Given the description of an element on the screen output the (x, y) to click on. 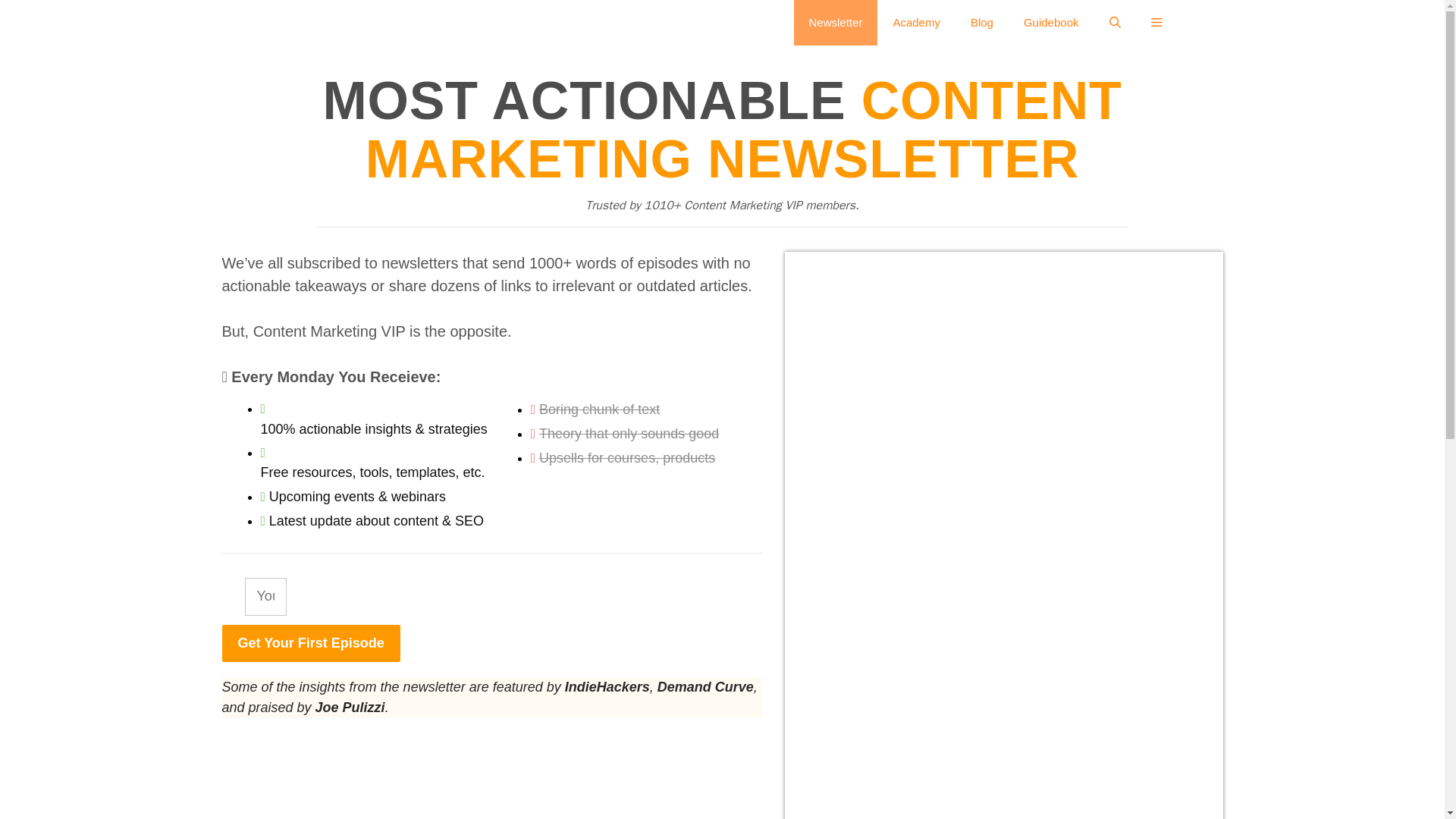
Get Your First Episode (309, 642)
Content Marketing VIP (359, 22)
Blog (982, 22)
Guidebook (1051, 22)
Newsletter (835, 22)
Academy (916, 22)
